Given the description of an element on the screen output the (x, y) to click on. 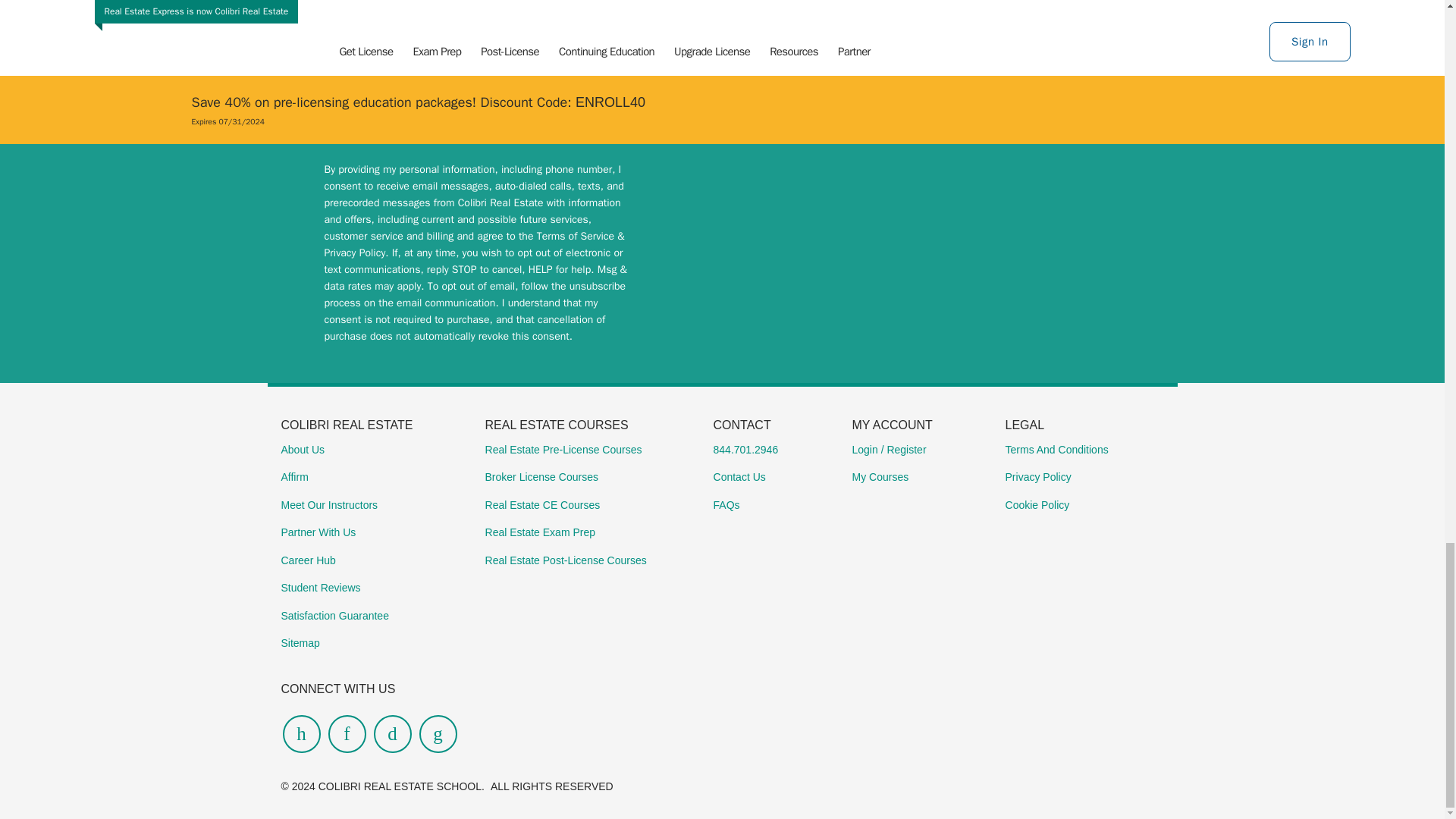
Connect with us on Facebook (391, 733)
Connect with us on Twitter (438, 733)
Connect with us on YouTube (301, 733)
Connect with us on LinkedIn (346, 733)
